Given the description of an element on the screen output the (x, y) to click on. 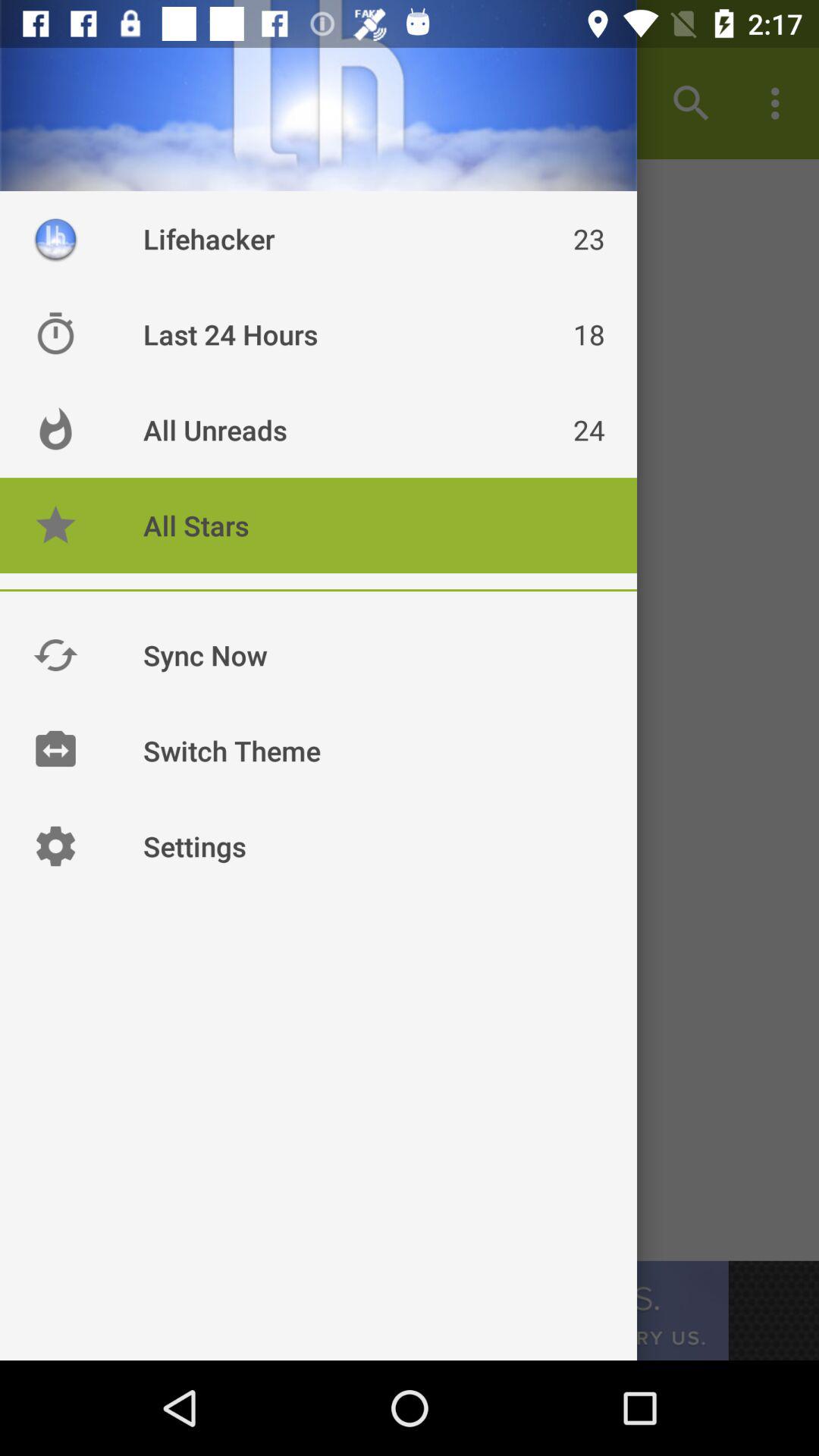
click on the star icon (55, 525)
click on settings icon (55, 845)
go to the icon right to all unreads (55, 429)
